Given the description of an element on the screen output the (x, y) to click on. 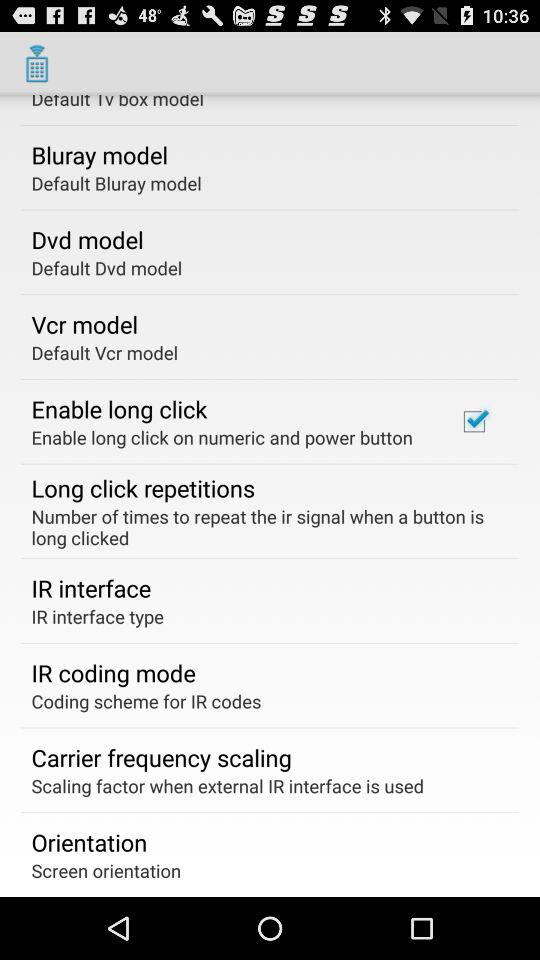
turn off the app above number of times (474, 421)
